Given the description of an element on the screen output the (x, y) to click on. 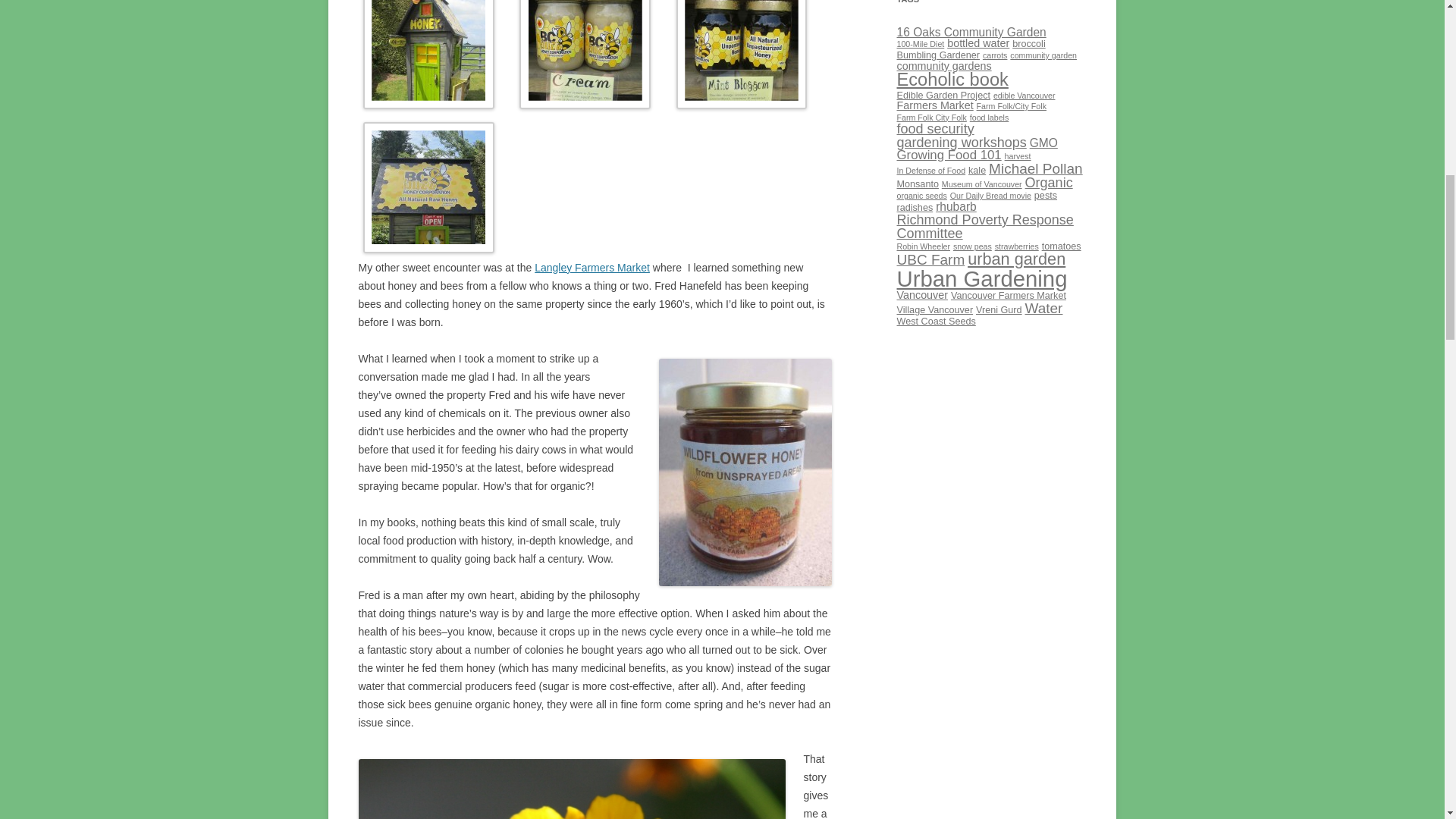
Langley Farmers Market (591, 267)
